Given the description of an element on the screen output the (x, y) to click on. 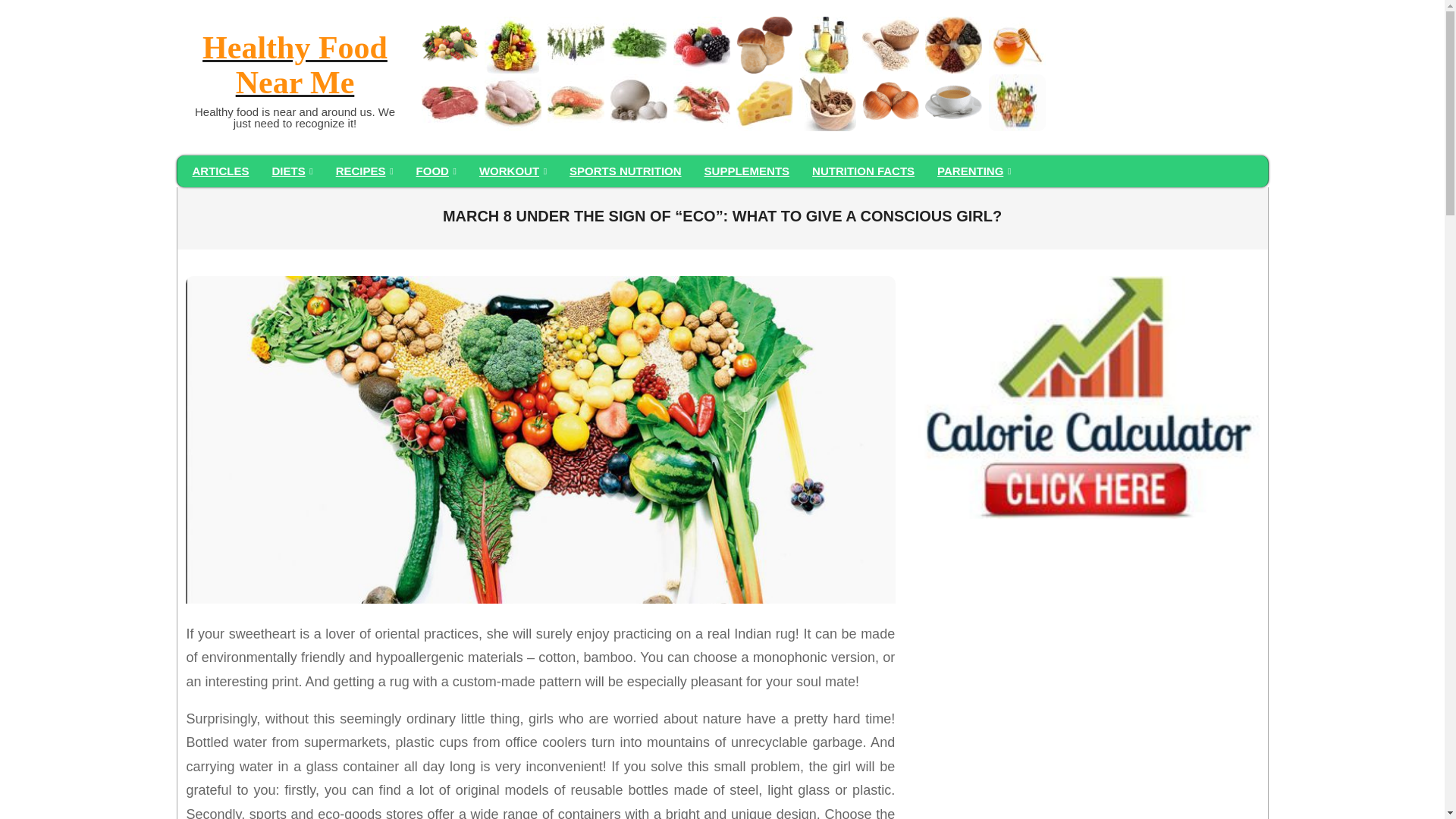
Healthy Food Near Me (294, 67)
FOOD (435, 171)
DIETS (292, 171)
RECIPES (364, 171)
ARTICLES (220, 171)
